Given the description of an element on the screen output the (x, y) to click on. 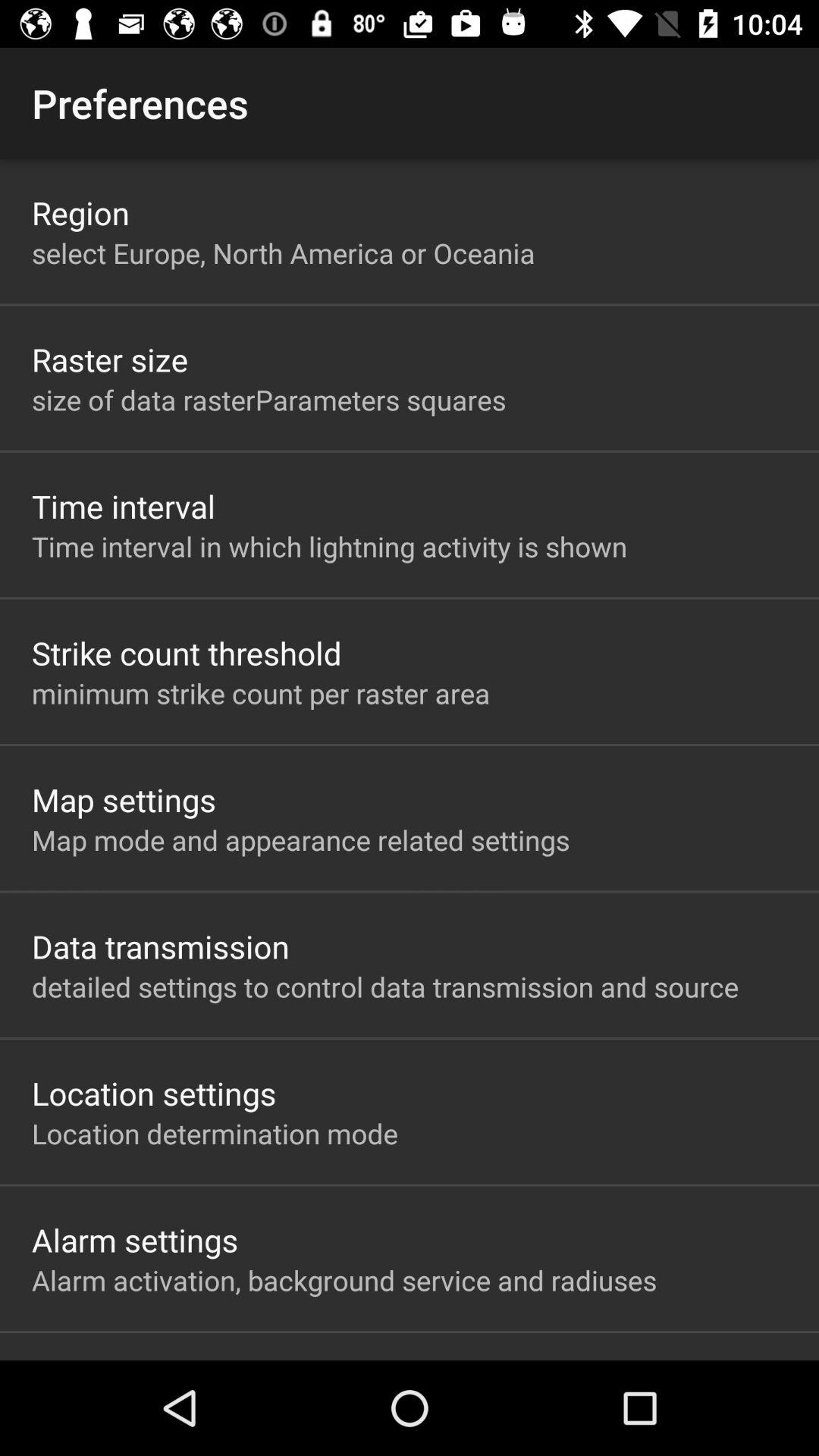
press the icon below map settings icon (300, 839)
